Given the description of an element on the screen output the (x, y) to click on. 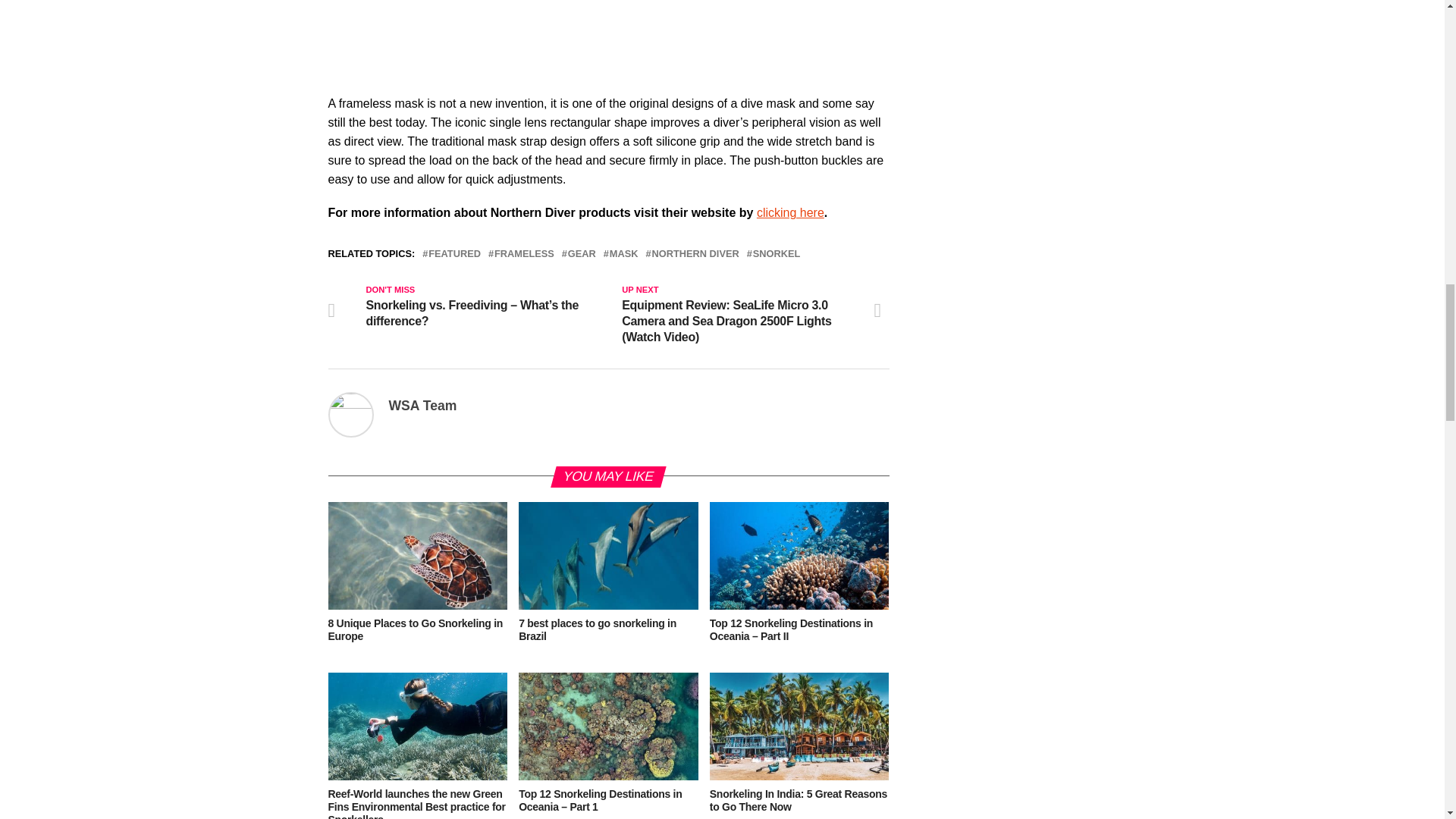
Posts by WSA Team (422, 405)
